Given the description of an element on the screen output the (x, y) to click on. 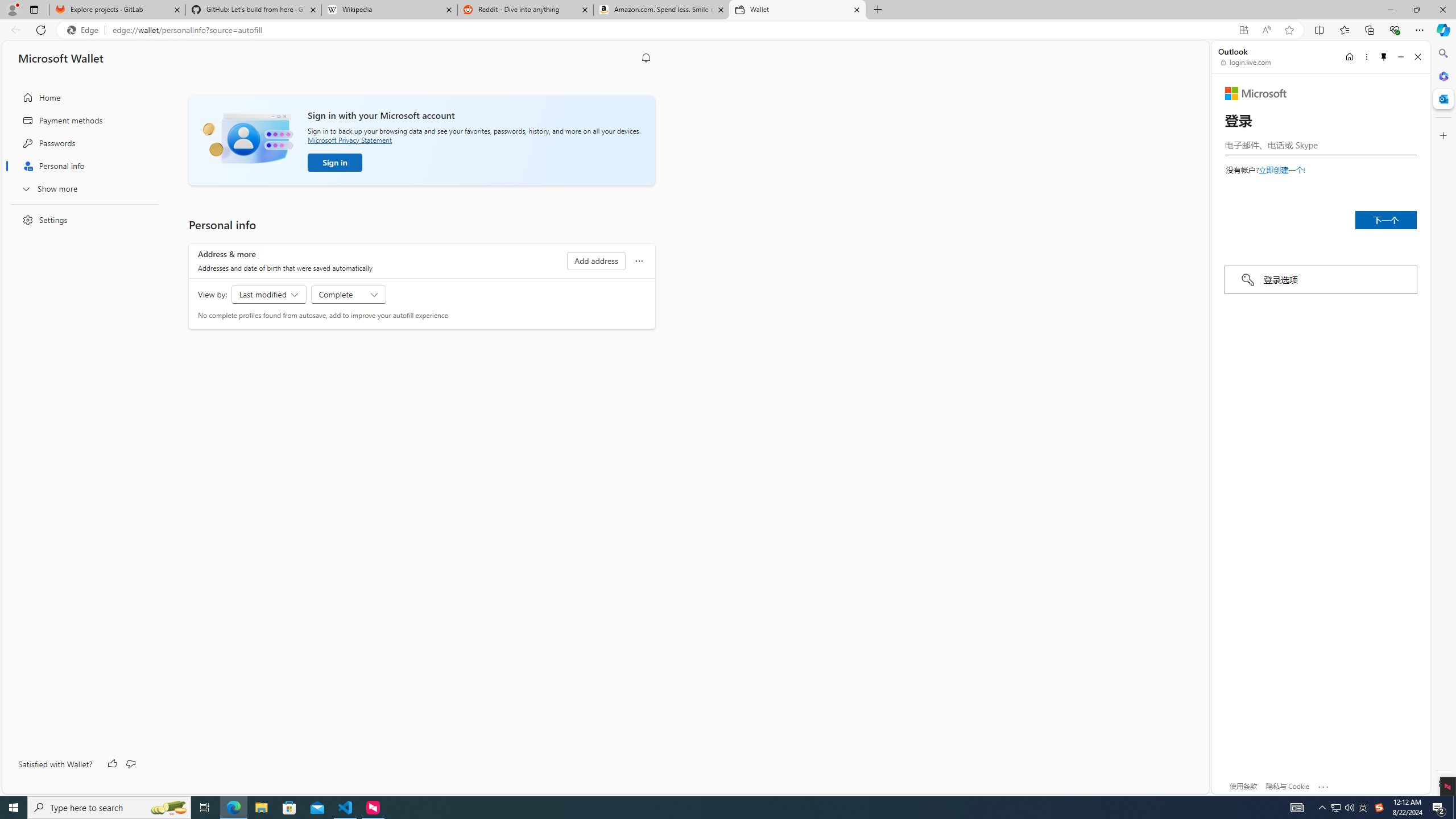
Passwords (81, 142)
Add address (596, 261)
Like (112, 764)
Personal info (81, 165)
